Given the description of an element on the screen output the (x, y) to click on. 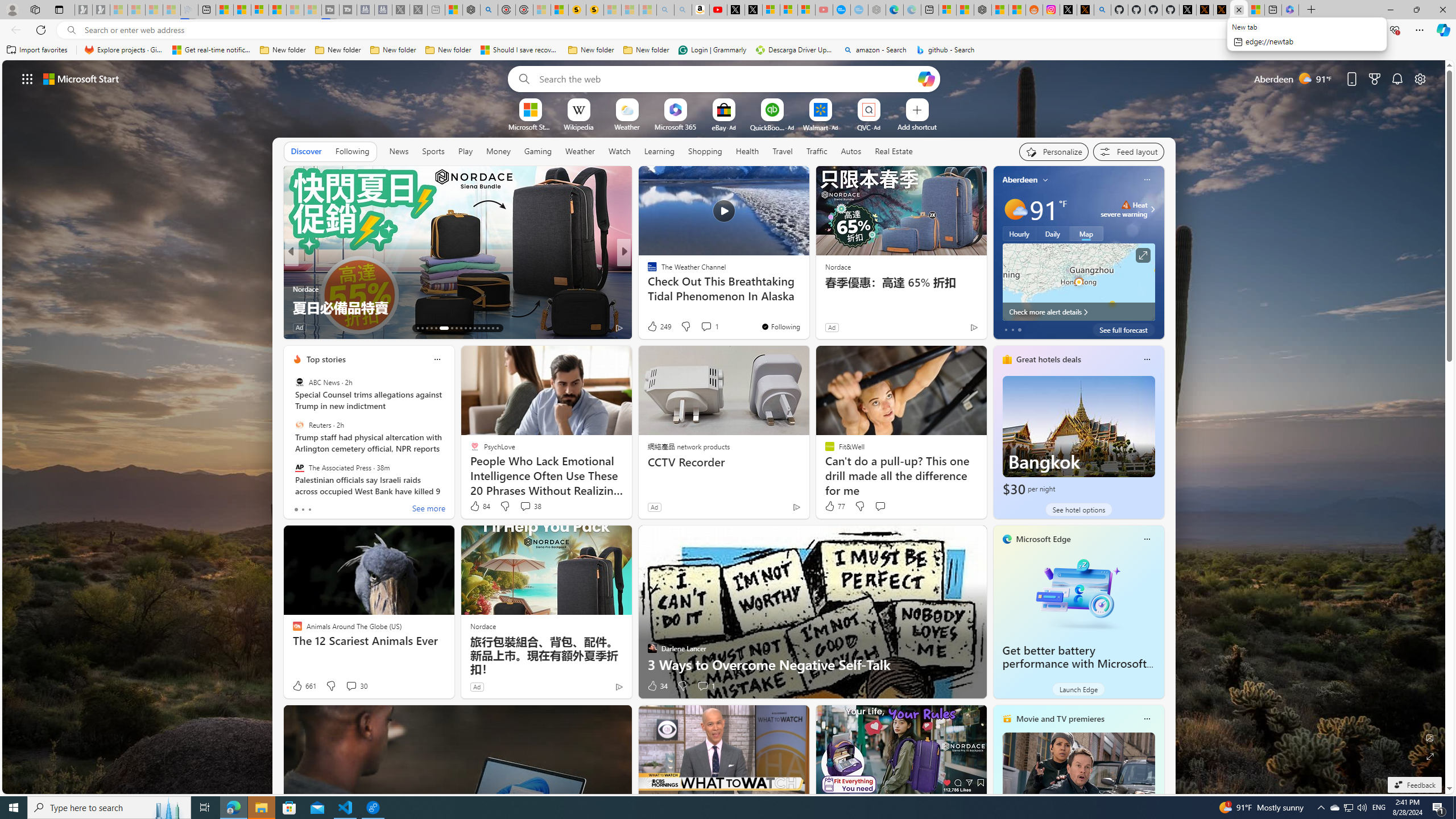
Discover (306, 151)
Page settings (1420, 78)
View comments 192 Comment (709, 327)
4 Like (651, 327)
Amazon Echo Dot PNG - Search Images - Sleeping (683, 9)
Hide this story (250, 179)
249 Like (658, 326)
X (753, 9)
AutomationID: tab-26 (483, 328)
Nordace - Summer Adventures 2024 (470, 9)
View comments 1 Comment (703, 685)
Ad (476, 686)
Log in to X / X (1068, 9)
